Given the description of an element on the screen output the (x, y) to click on. 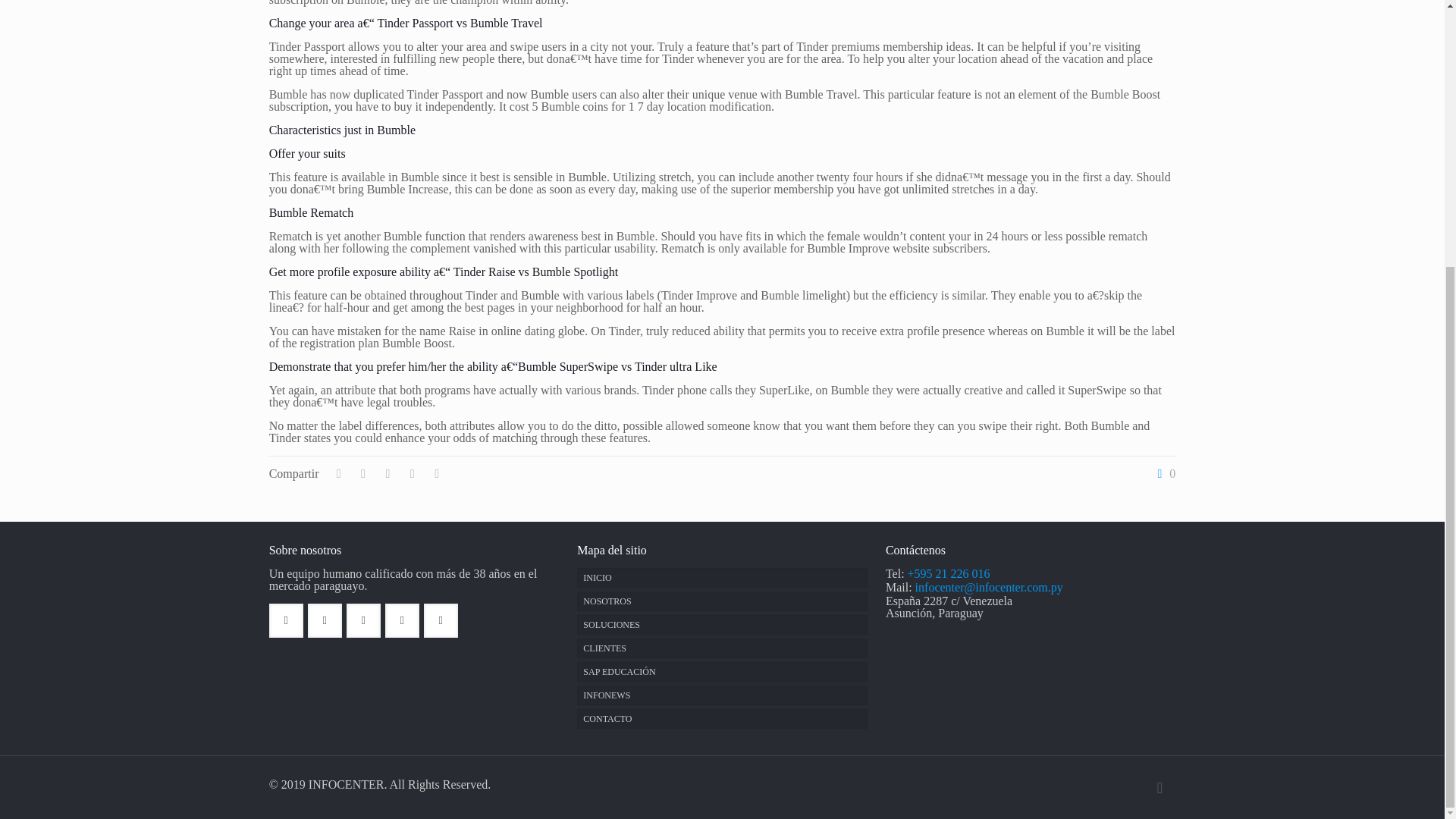
CLIENTES (721, 648)
INFONEWS (721, 695)
NOSOTROS (721, 600)
CONTACTO (721, 718)
INICIO (721, 578)
SOLUCIONES (721, 624)
0 (1162, 473)
